Given the description of an element on the screen output the (x, y) to click on. 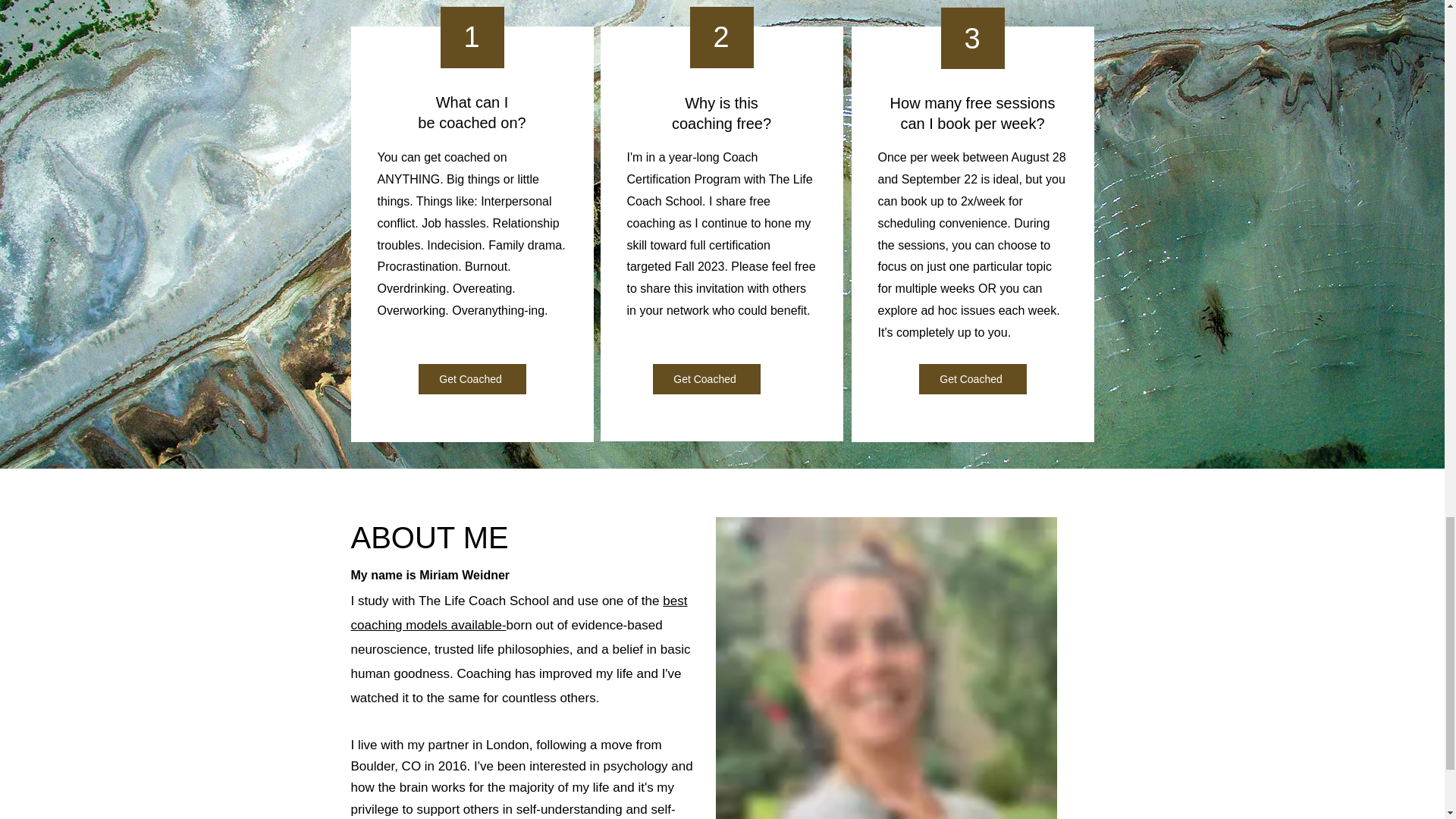
Get Coached (706, 378)
Get Coached (972, 378)
best coaching models available- (518, 612)
Get Coached (472, 378)
